Given the description of an element on the screen output the (x, y) to click on. 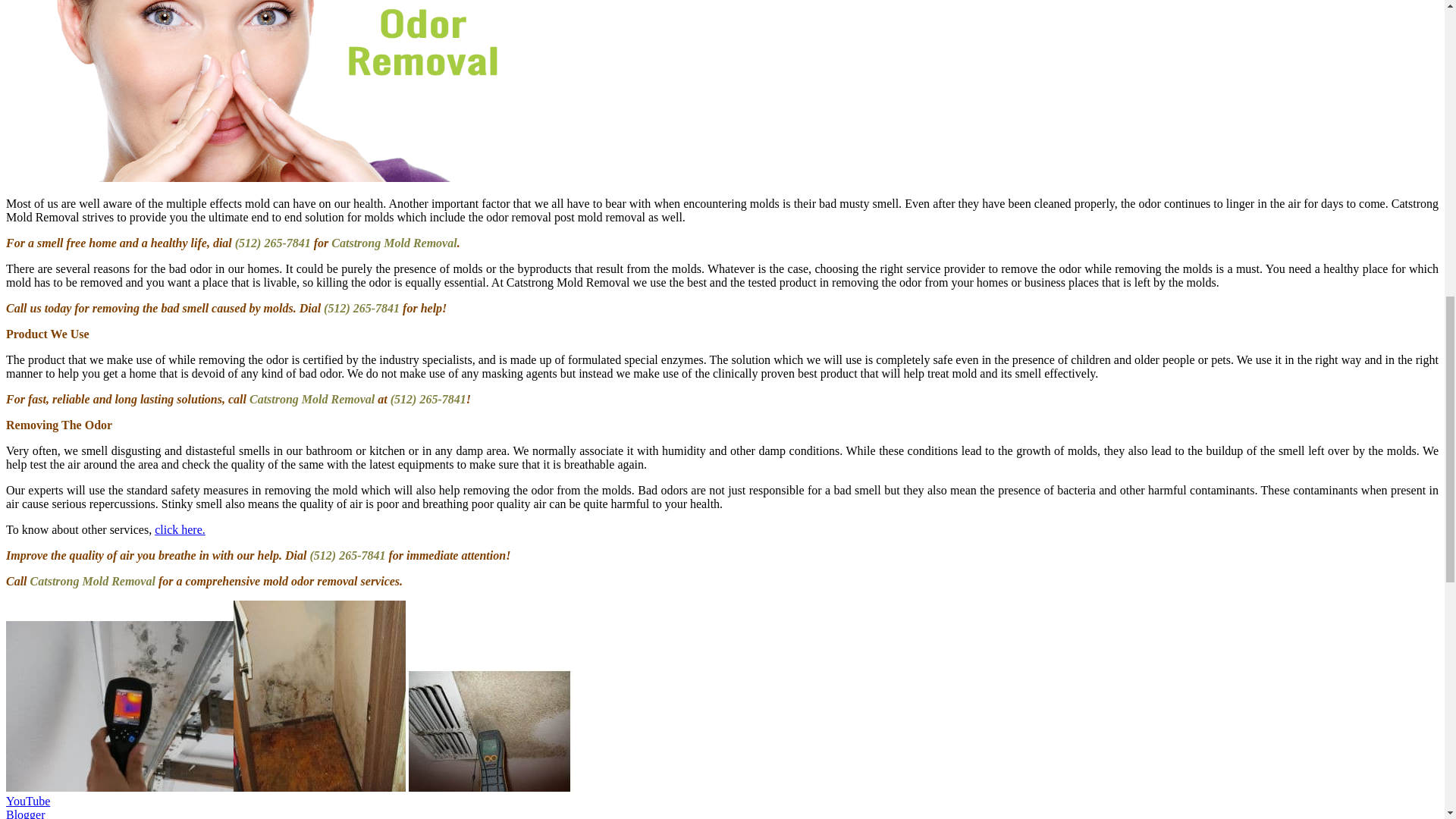
YouTube (27, 800)
Blogger (25, 813)
click here. (179, 529)
